Given the description of an element on the screen output the (x, y) to click on. 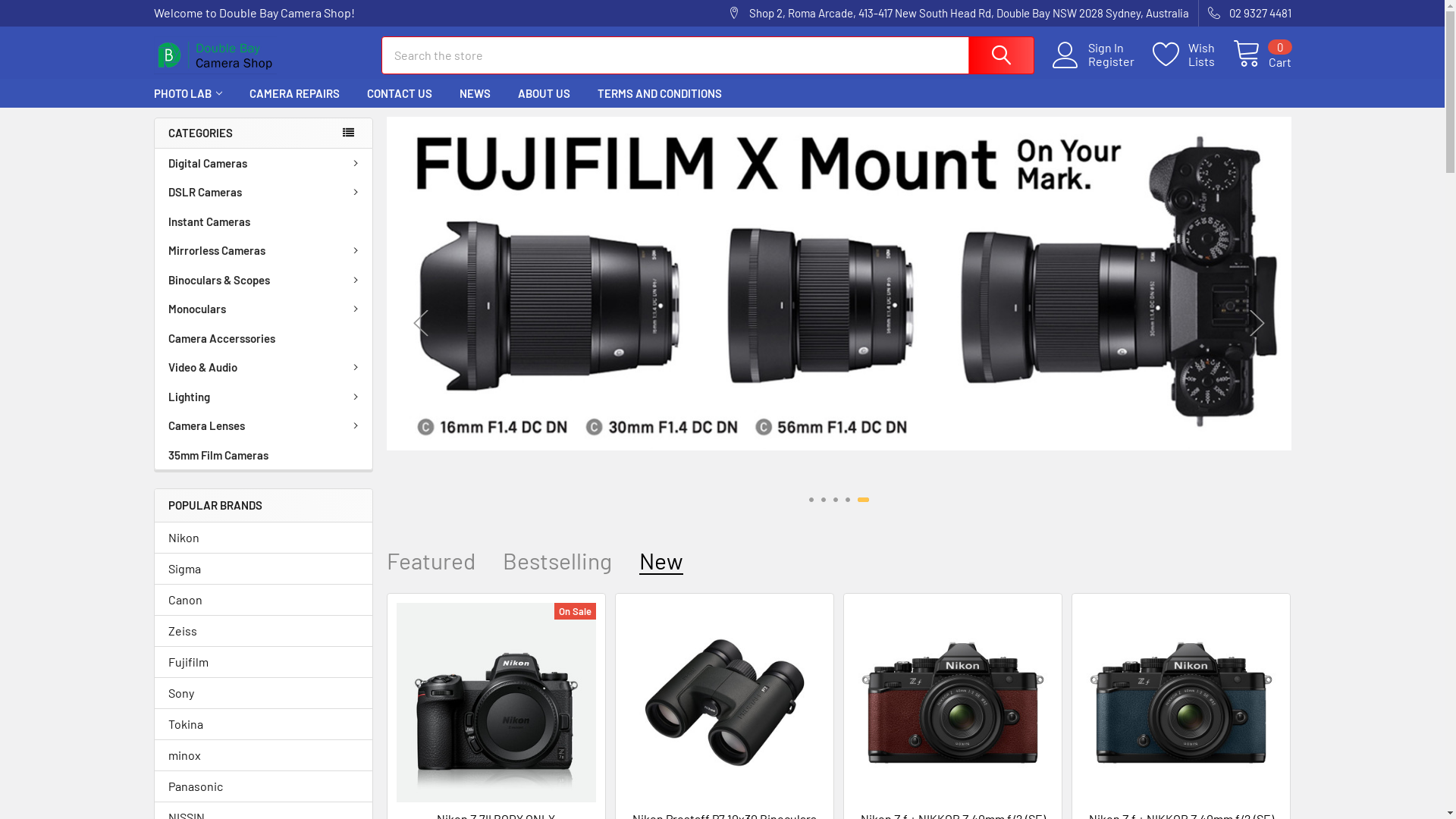
5 Element type: text (866, 499)
Fujifilm Element type: text (263, 661)
Lighting Element type: text (263, 396)
New Element type: text (661, 560)
NEWS Element type: text (474, 93)
Video & Audio Element type: text (263, 367)
4 Element type: text (850, 499)
TERMS AND CONDITIONS Element type: text (659, 93)
Register Element type: text (1119, 61)
Cart
0 Element type: text (1262, 54)
Monoculars Element type: text (263, 308)
Instant Cameras Element type: text (263, 220)
Canon Element type: text (263, 599)
Nikon Z f + NIKKOR Z 40mm f/2 (SE) Kit (Bordeaux Red) Element type: hover (952, 702)
Sigma Element type: text (263, 568)
Next Element type: text (1257, 322)
3 Element type: text (835, 499)
CONTACT US Element type: text (399, 93)
CATEGORIES Element type: text (262, 132)
Sony Element type: text (263, 693)
Search Element type: text (1000, 55)
Tokina Element type: text (263, 724)
DSLR Cameras Element type: text (263, 192)
Panasonic Element type: text (263, 786)
Camera Accerssories Element type: text (263, 337)
minox Element type: text (263, 755)
Binoculars & Scopes Element type: text (263, 279)
Featured Element type: text (430, 560)
Camera Lenses Element type: text (263, 425)
Nikon Prostaff P7 10x30 Binoculars Element type: hover (724, 702)
Mirrorless Cameras Element type: text (263, 250)
Zeiss Element type: text (263, 630)
2 Element type: text (823, 499)
Double Bay Camera Shop Element type: hover (214, 55)
02 9327 4481 Element type: text (1244, 13)
Nikon Element type: text (263, 537)
Digital Cameras Element type: text (263, 163)
Bestselling Element type: text (556, 560)
ABOUT US Element type: text (543, 93)
Sign In Element type: text (1119, 47)
CAMERA REPAIRS Element type: text (293, 93)
35mm Film Cameras Element type: text (263, 454)
Nikon Z f + NIKKOR Z 40mm f/2 (SE) Kit (Indigo Blue) Element type: hover (1180, 702)
PHOTO LAB Element type: text (187, 93)
1 Element type: text (811, 499)
Previous Element type: text (420, 322)
Nikon Z 7II BODY ONLY Element type: hover (496, 702)
Wish
Lists Element type: text (1192, 54)
